Given the description of an element on the screen output the (x, y) to click on. 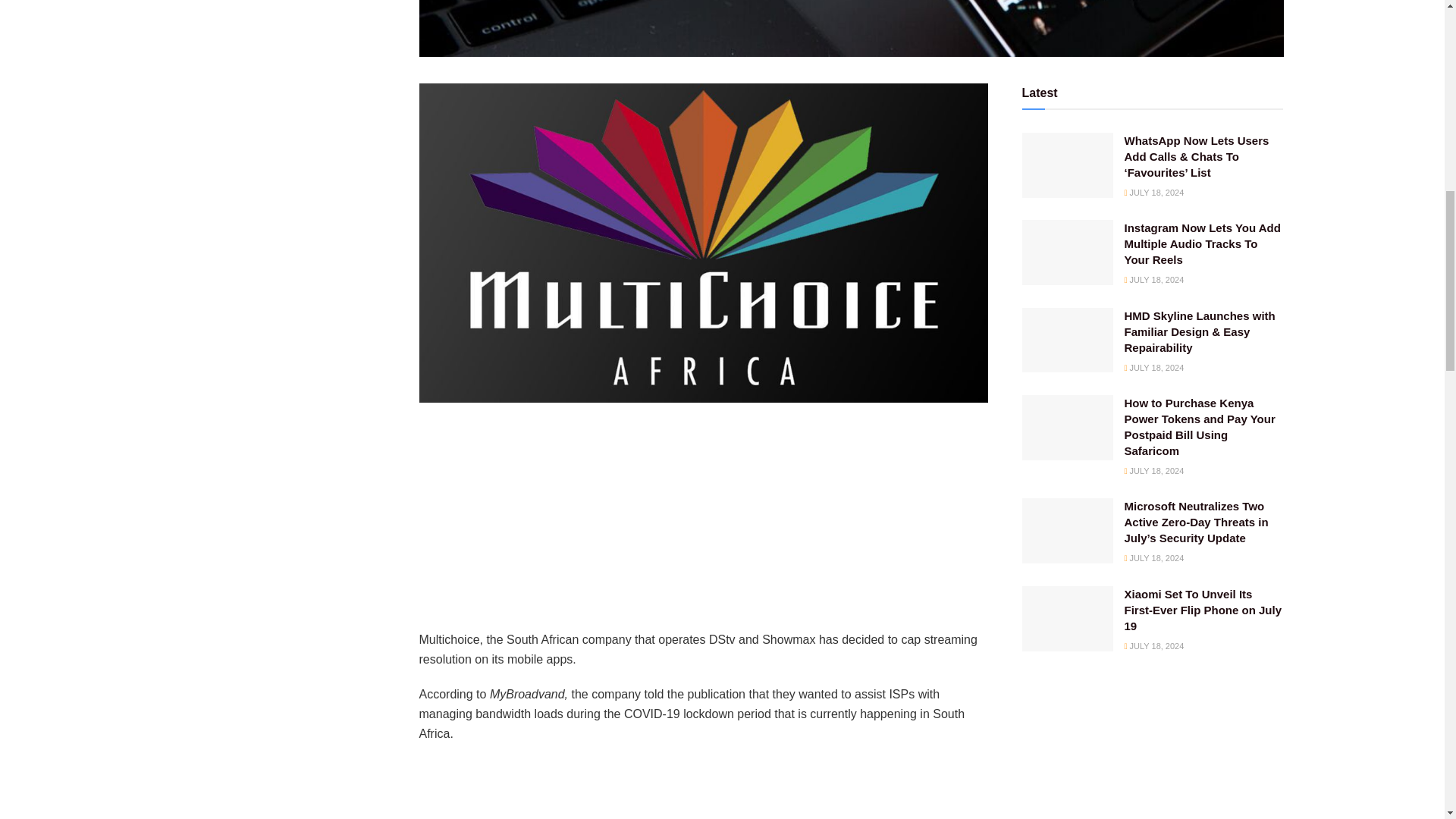
How To Query Kenya Power Prepaid Tokens When SMS Delays (162, 4)
